Given the description of an element on the screen output the (x, y) to click on. 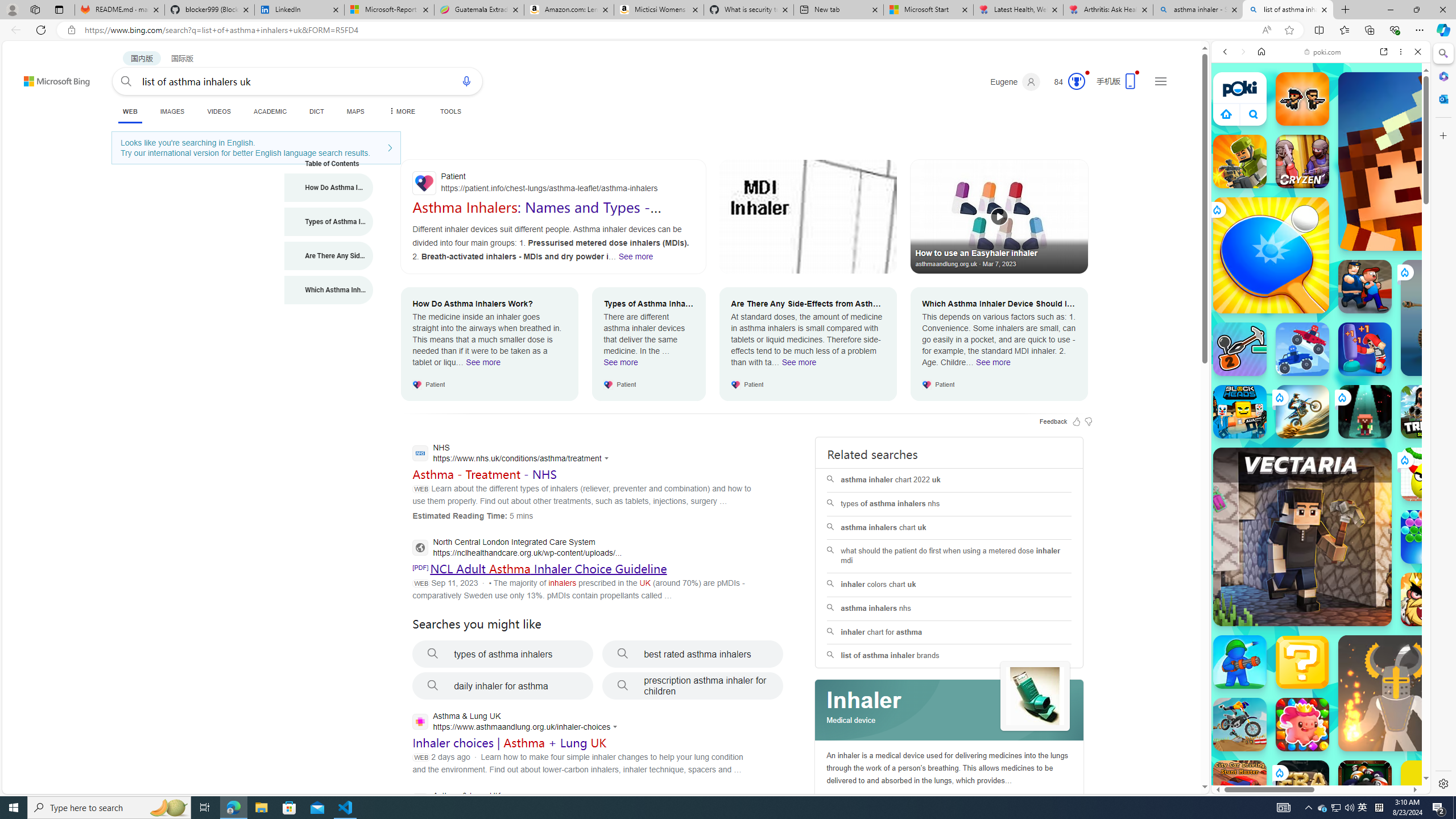
Vectaria.io (1301, 536)
poki.com (1322, 51)
Combat Reloaded (1349, 580)
Show More Shooting Games (1390, 296)
Search results from poki.com (1299, 443)
Settings and quick links (1160, 80)
Search Filter, VIDEOS (1300, 129)
Vectaria.io Vectaria.io (1301, 536)
War Master War Master (1239, 661)
asthma inhaler - Search (1197, 9)
Search button (126, 80)
Hills of Steel (1264, 580)
Like a King (1427, 599)
Tribals.io Tribals.io (1427, 411)
